Given the description of an element on the screen output the (x, y) to click on. 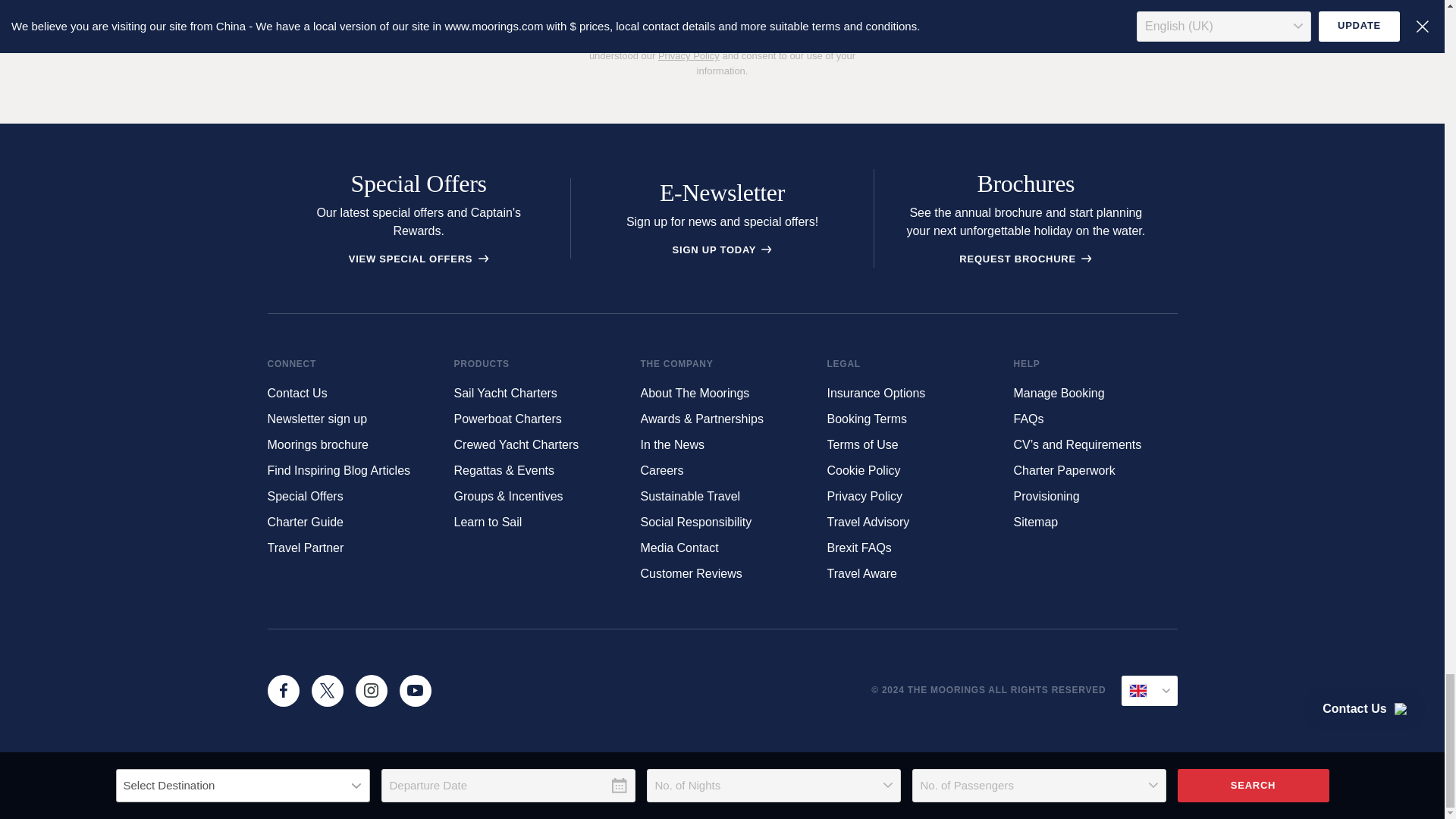
facebook (282, 690)
youtube (414, 690)
instagram (371, 690)
twitter (326, 690)
